Given the description of an element on the screen output the (x, y) to click on. 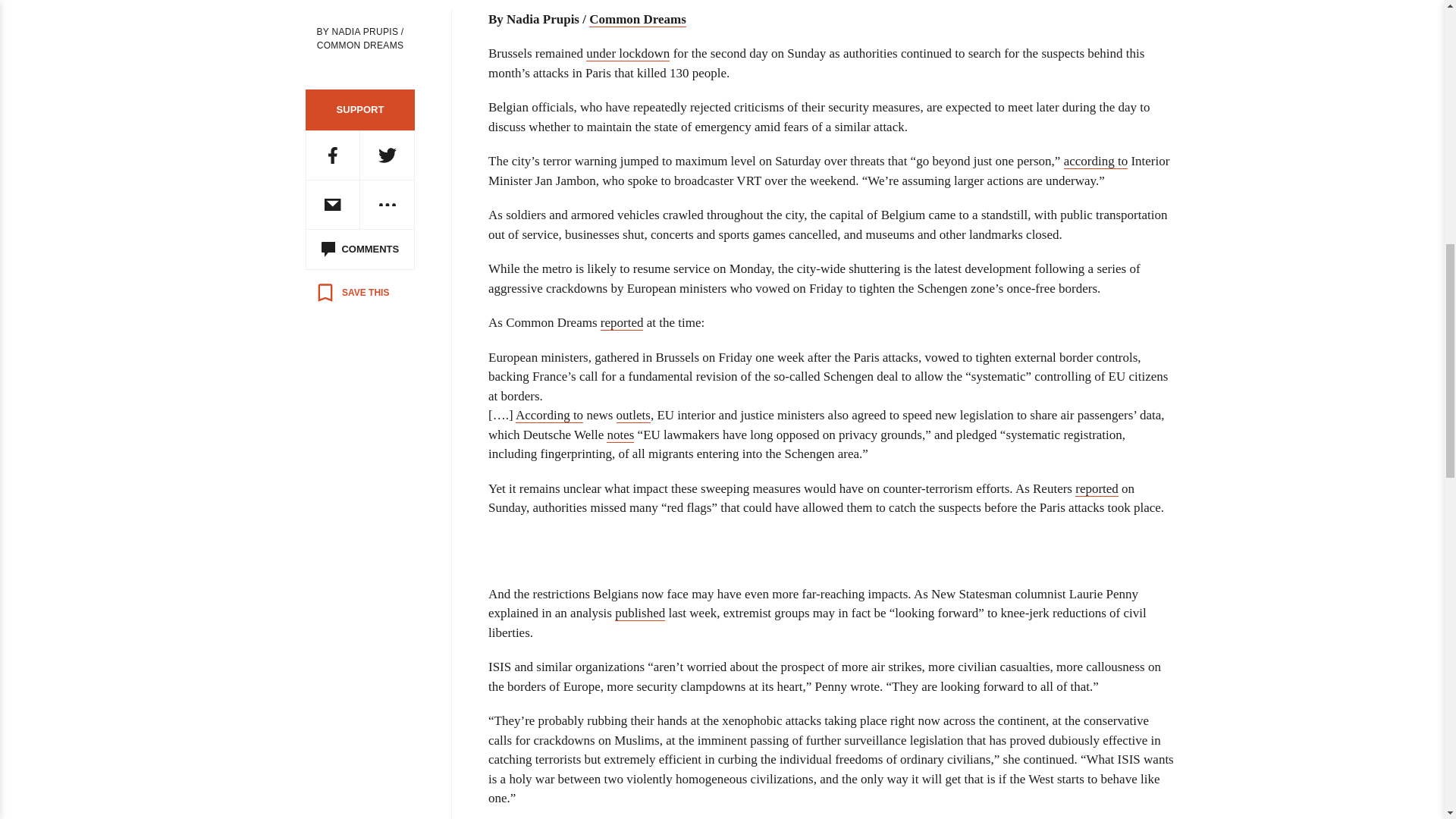
Save to read later (351, 292)
according to (1096, 160)
notes (620, 435)
published (639, 613)
reported (621, 322)
outlets (632, 415)
under lockdown (627, 53)
According to (549, 415)
Common Dreams (637, 19)
reported (1096, 488)
